Given the description of an element on the screen output the (x, y) to click on. 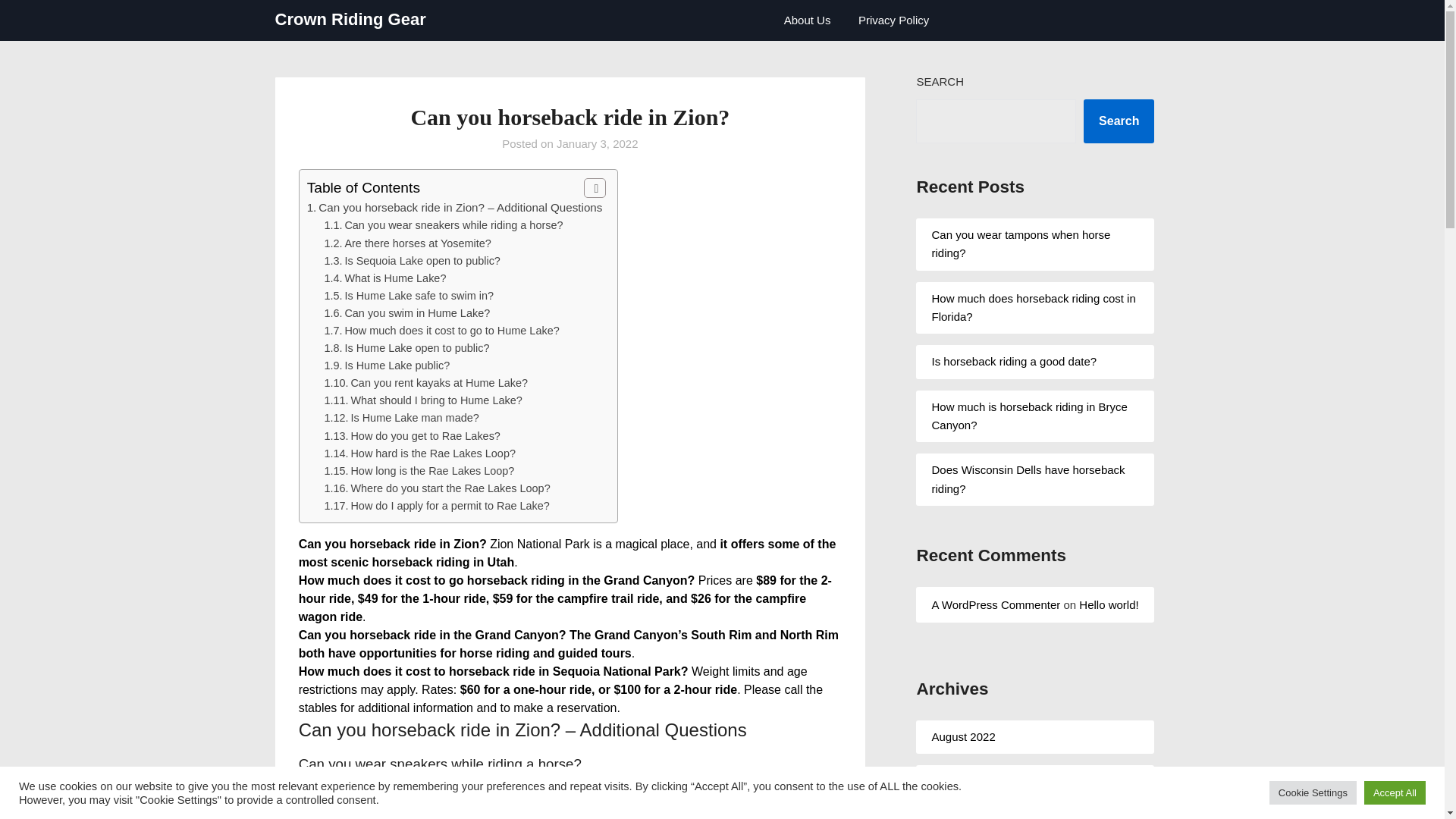
Is Hume Lake public? (396, 365)
How do you get to Rae Lakes? (424, 435)
How much does horseback riding cost in Florida? (1033, 306)
What should I bring to Hume Lake? (435, 399)
Can you swim in Hume Lake? (416, 313)
How much does it cost to go to Hume Lake? (451, 330)
Can you wear sneakers while riding a horse? (452, 224)
July 2022 (955, 780)
How much is horseback riding in Bryce Canyon? (1028, 415)
Is Sequoia Lake open to public? (421, 260)
